Given the description of an element on the screen output the (x, y) to click on. 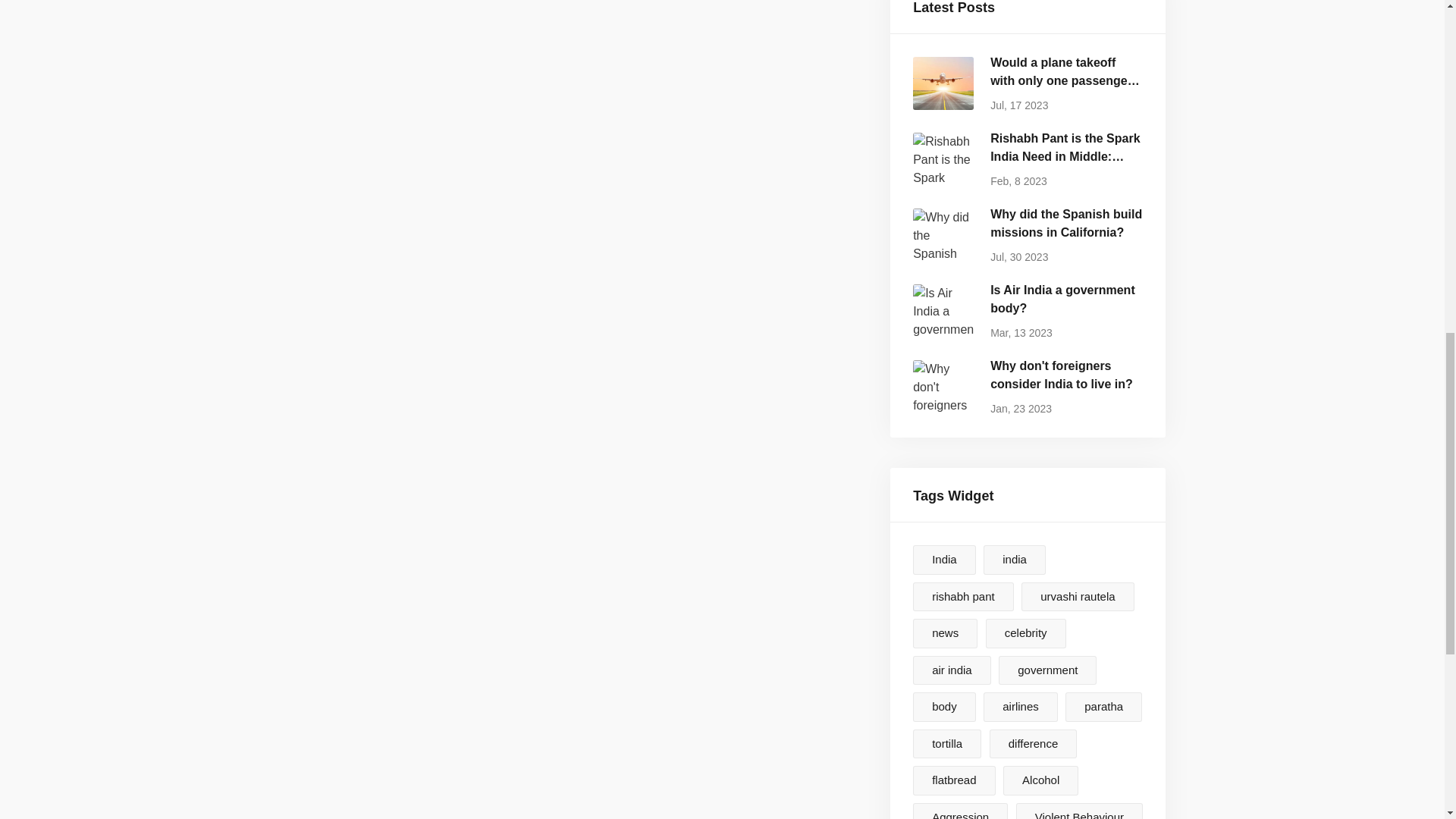
airlines (1021, 706)
India (1027, 386)
india (943, 559)
celebrity (1027, 310)
tortilla (1014, 559)
flatbread (1025, 633)
government (946, 744)
body (953, 780)
Alcohol (1047, 670)
paratha (943, 706)
news (1040, 780)
